Given the description of an element on the screen output the (x, y) to click on. 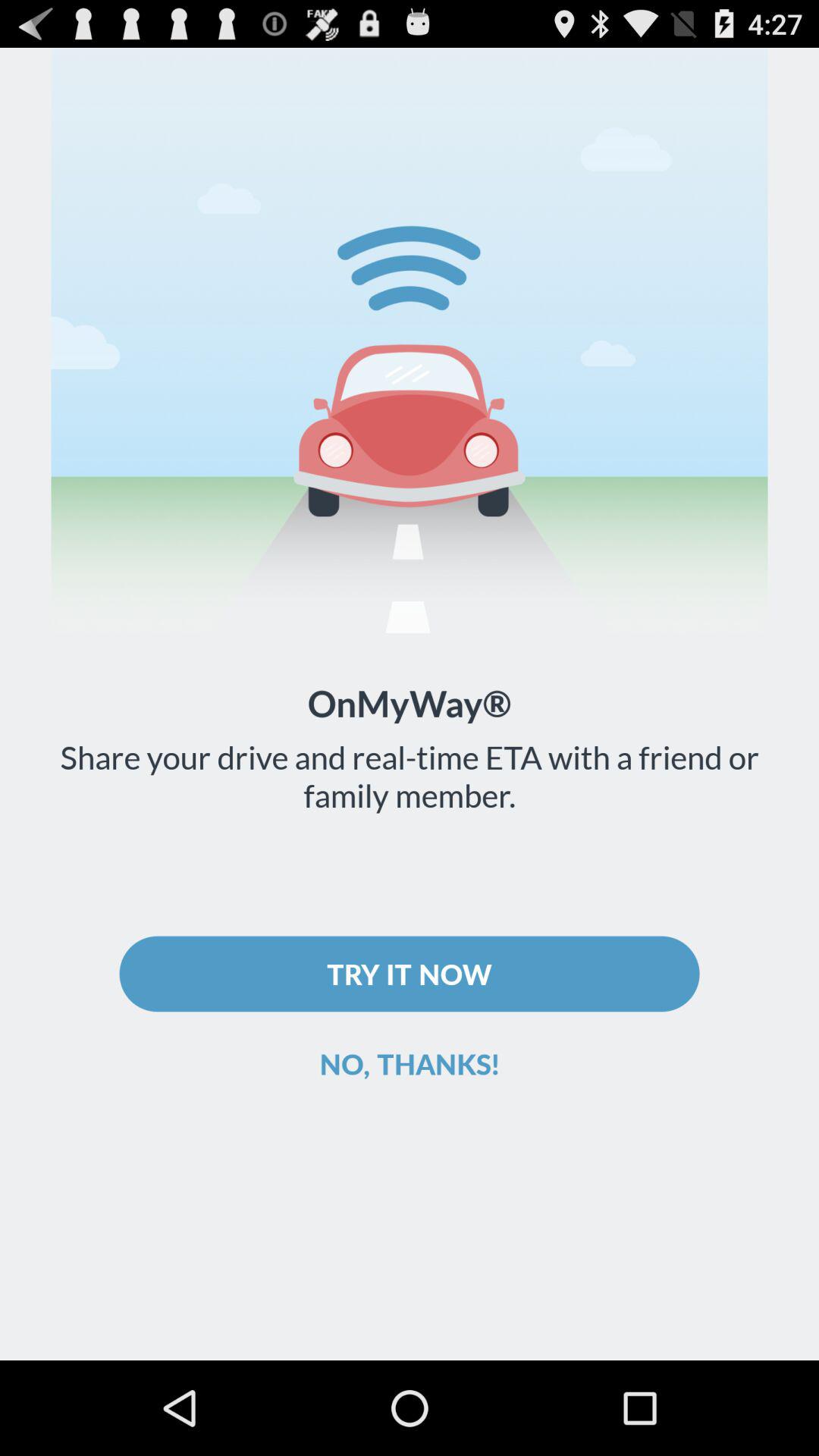
choose no, thanks! item (409, 1063)
